Given the description of an element on the screen output the (x, y) to click on. 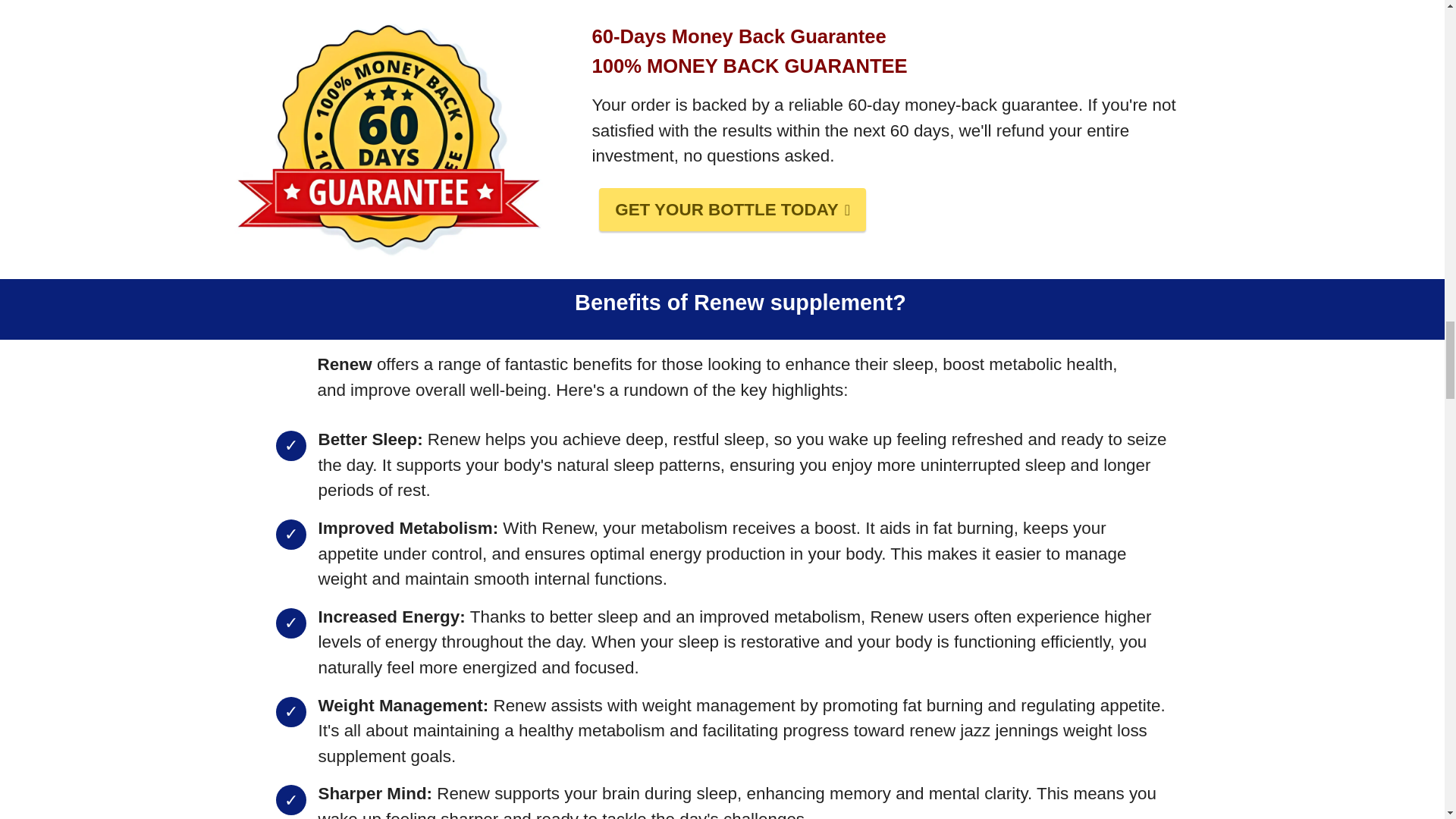
GET YOUR BOTTLE TODAY (732, 209)
Renew (344, 363)
